Given the description of an element on the screen output the (x, y) to click on. 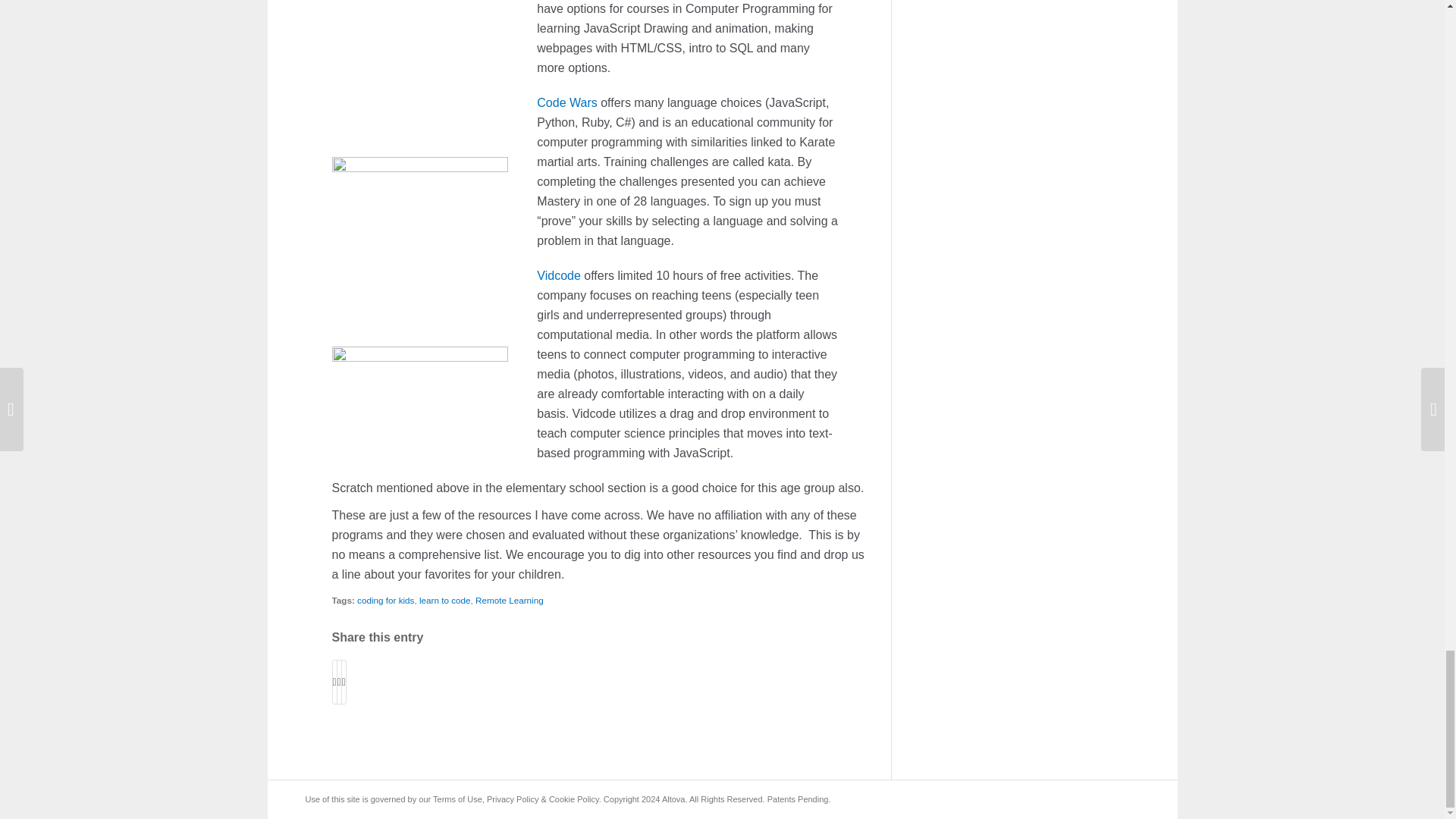
coding for kids (384, 600)
Vidcode (558, 275)
learn to code (444, 600)
Code Wars (566, 102)
Remote Learning (509, 600)
